Given the description of an element on the screen output the (x, y) to click on. 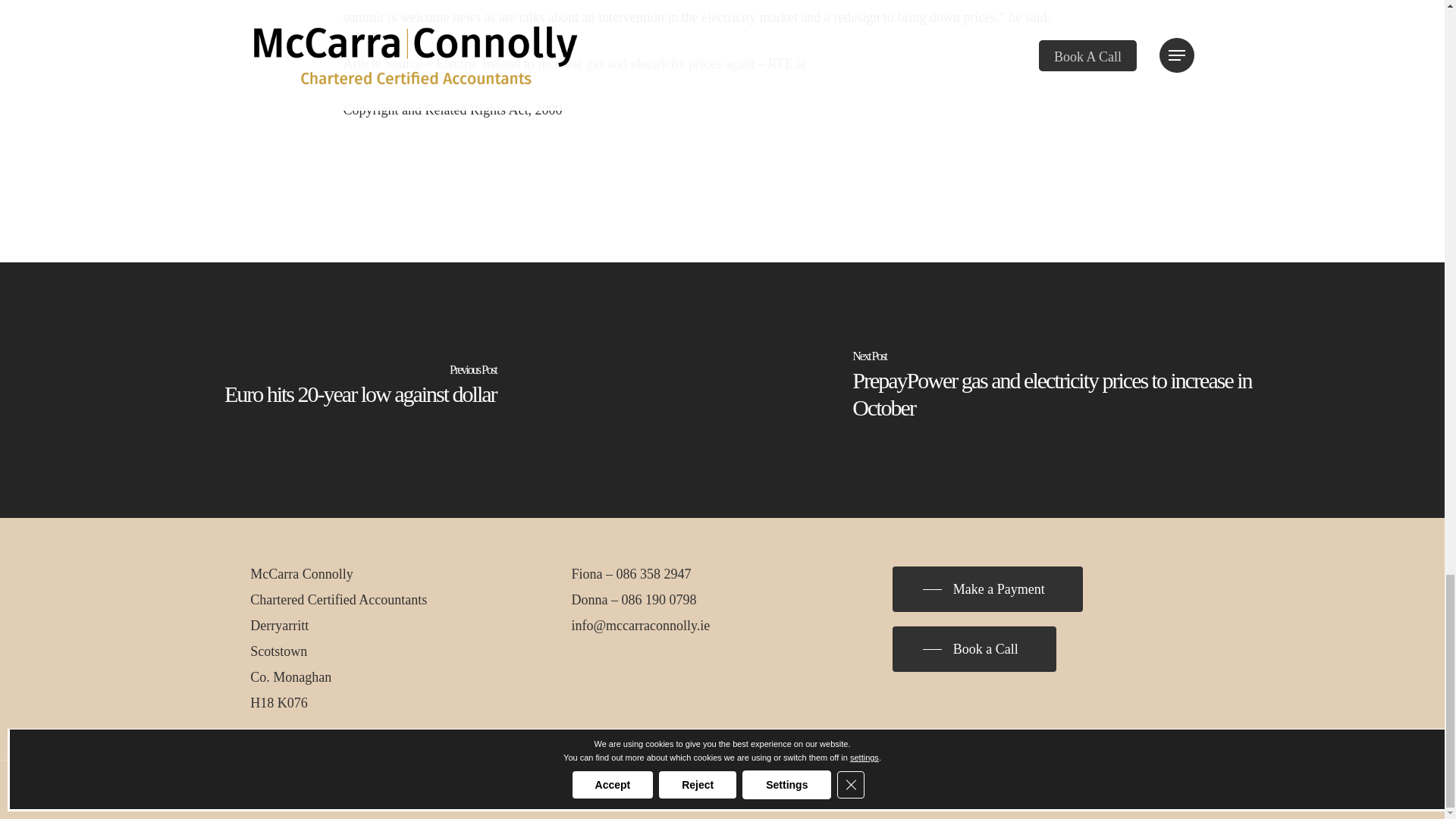
PracticeNet (638, 790)
086 190 0798 (659, 599)
Copyright and Related Rights Act, 2000 (452, 109)
Terms (542, 790)
086 358 2947 (653, 573)
Make a Payment (987, 588)
Cookies (580, 790)
Privacy (505, 790)
Book a Call (974, 648)
